Given the description of an element on the screen output the (x, y) to click on. 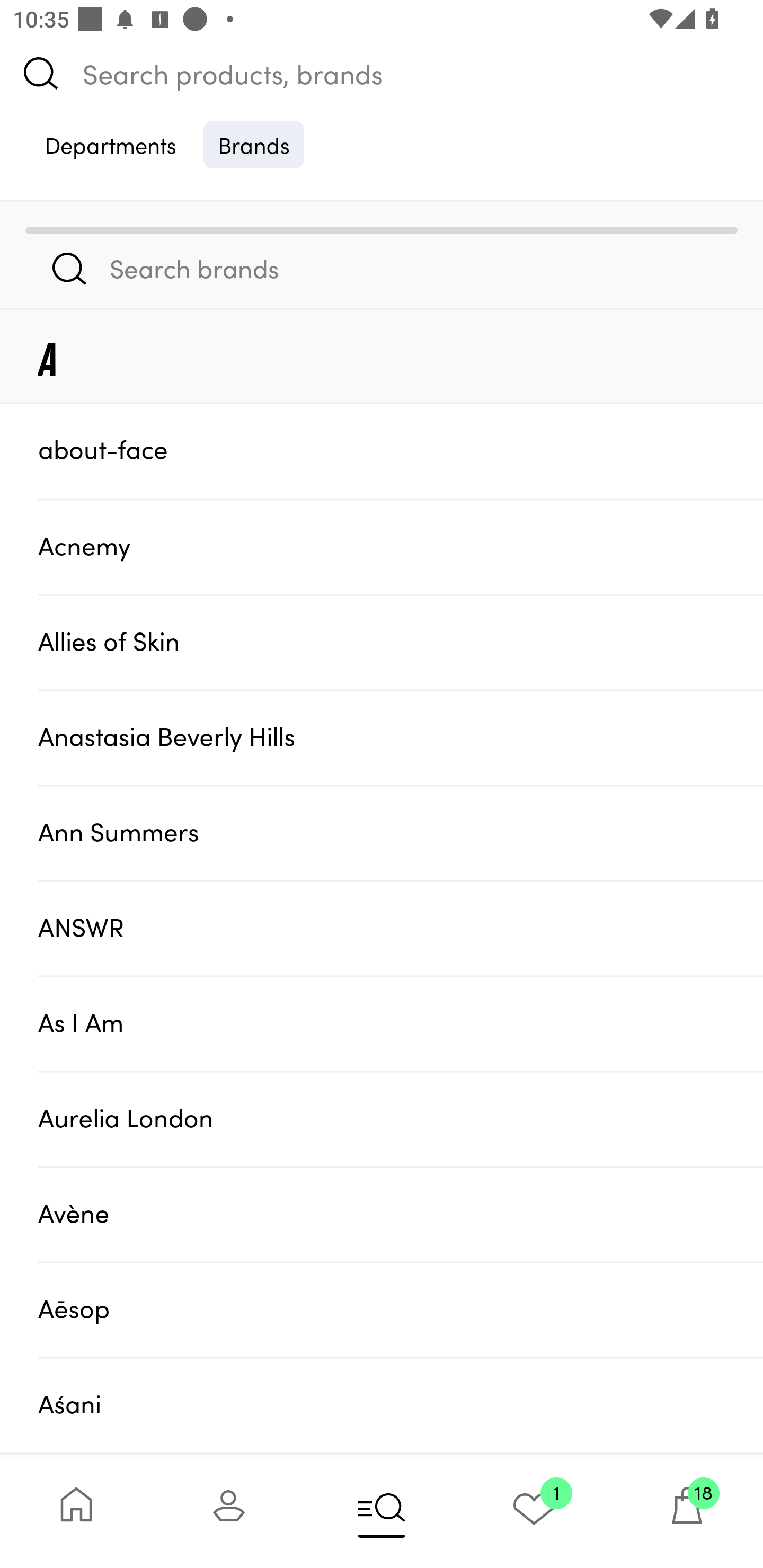
Search products, brands (381, 72)
Departments (110, 143)
Brands (253, 143)
about-face (400, 450)
Acnemy (400, 546)
Allies of Skin (400, 641)
Anastasia Beverly Hills (400, 737)
Ann Summers (400, 832)
ANSWR (400, 927)
As I Am (400, 1022)
Aurelia London (400, 1118)
Avène (400, 1214)
Aēsop (400, 1309)
Aśani (400, 1404)
1 (533, 1512)
18 (686, 1512)
